Given the description of an element on the screen output the (x, y) to click on. 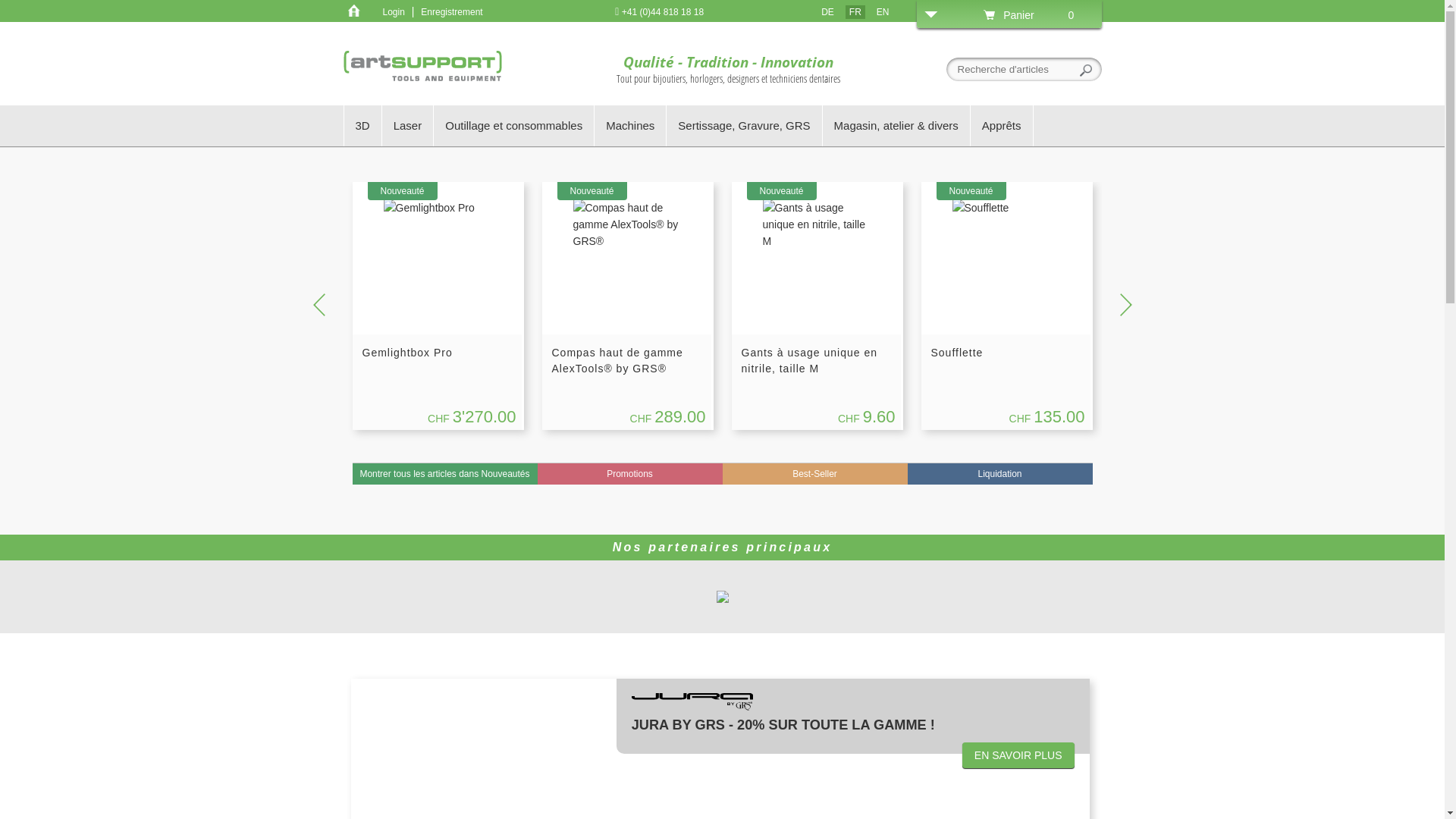
FR Element type: text (855, 11)
Machines Element type: text (630, 125)
Gemlightbox Pro Element type: hover (428, 207)
+41 (0)44 818 18 18 Element type: text (659, 11)
Gemlightbox Pro Element type: text (407, 352)
Sertissage, Gravure, GRS Element type: text (744, 125)
Home Element type: hover (353, 10)
Liquidation Element type: text (999, 473)
Enregistrement Element type: text (451, 11)
Best-Seller Element type: text (813, 473)
Laser Element type: text (408, 125)
EN Element type: text (882, 11)
Login Element type: text (393, 11)
DE Element type: text (827, 11)
jura by grs Element type: hover (692, 701)
Promotions Element type: text (628, 473)
Soufflette Element type: text (957, 352)
3D Element type: text (363, 125)
Soufflette Element type: hover (980, 207)
Magasin, atelier & divers Element type: text (896, 125)
Outillage et consommables Element type: text (513, 125)
